Given the description of an element on the screen output the (x, y) to click on. 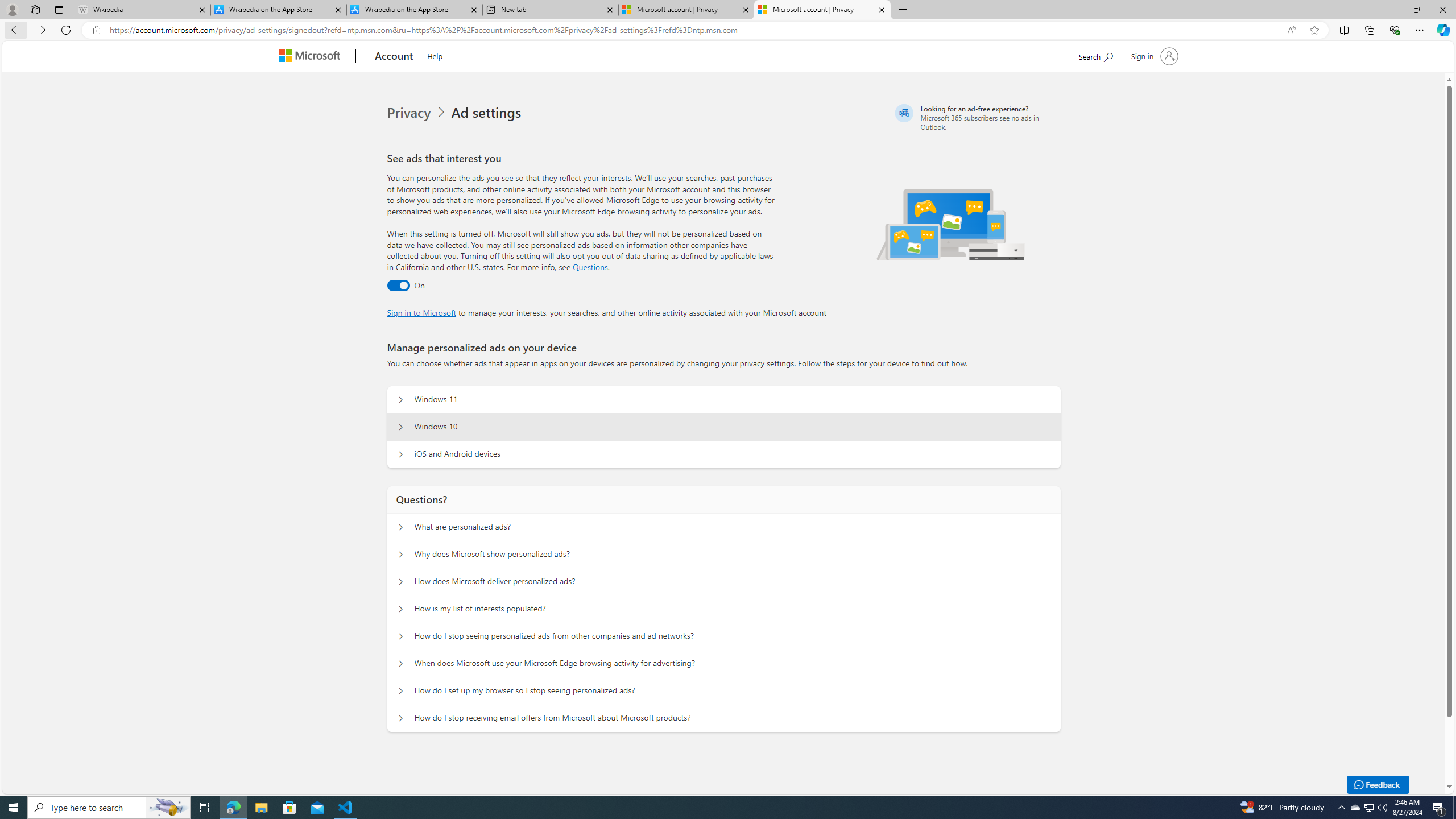
Ad settings toggle (398, 285)
Search Microsoft.com (1095, 54)
Go to Questions section (590, 266)
Account (394, 56)
